Given the description of an element on the screen output the (x, y) to click on. 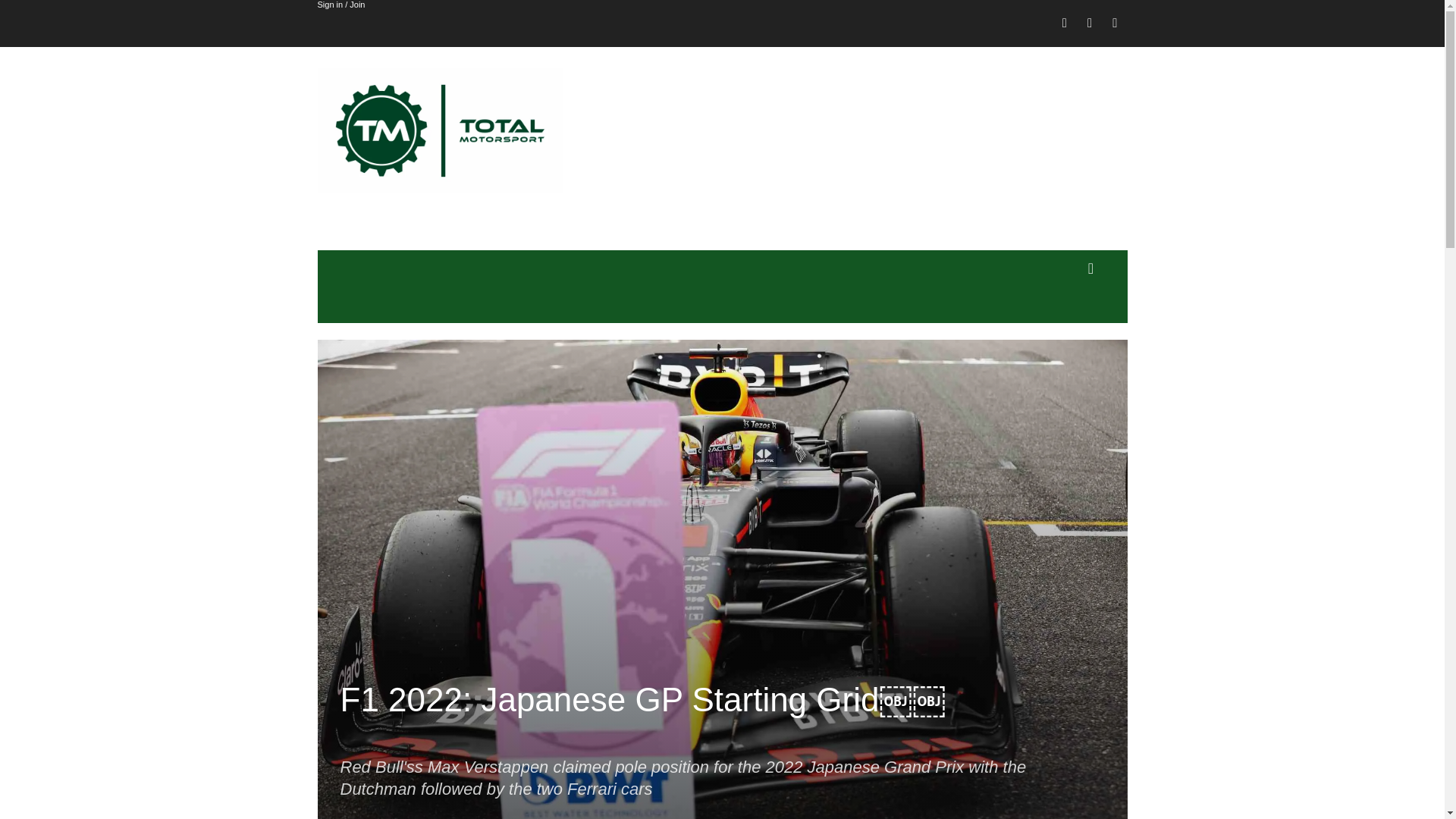
Twitter (1114, 23)
Facebook (1064, 23)
Instagram (1089, 23)
